Given the description of an element on the screen output the (x, y) to click on. 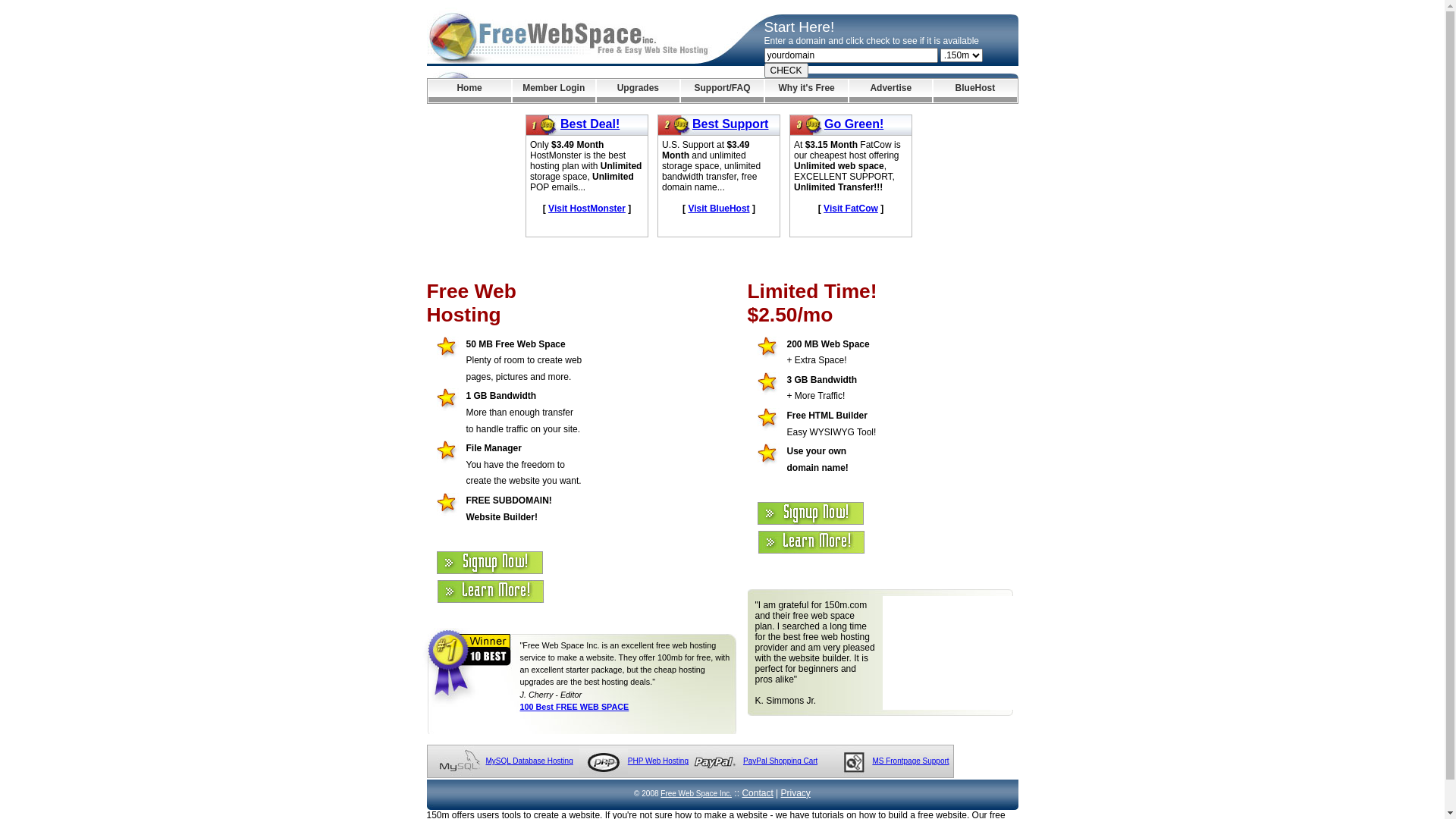
Contact Element type: text (756, 792)
Support/FAQ Element type: text (721, 90)
Upgrades Element type: text (637, 90)
MySQL Database Hosting Element type: text (528, 760)
100 Best FREE WEB SPACE Element type: text (574, 706)
Advertise Element type: text (890, 90)
Home Element type: text (468, 90)
Free Web Space Inc. Element type: text (695, 793)
BlueHost Element type: text (974, 90)
Member Login Element type: text (553, 90)
MS Frontpage Support Element type: text (910, 760)
Why it's Free Element type: text (806, 90)
PayPal Shopping Cart Element type: text (780, 760)
Privacy Element type: text (795, 792)
PHP Web Hosting Element type: text (657, 760)
CHECK Element type: text (786, 70)
